Given the description of an element on the screen output the (x, y) to click on. 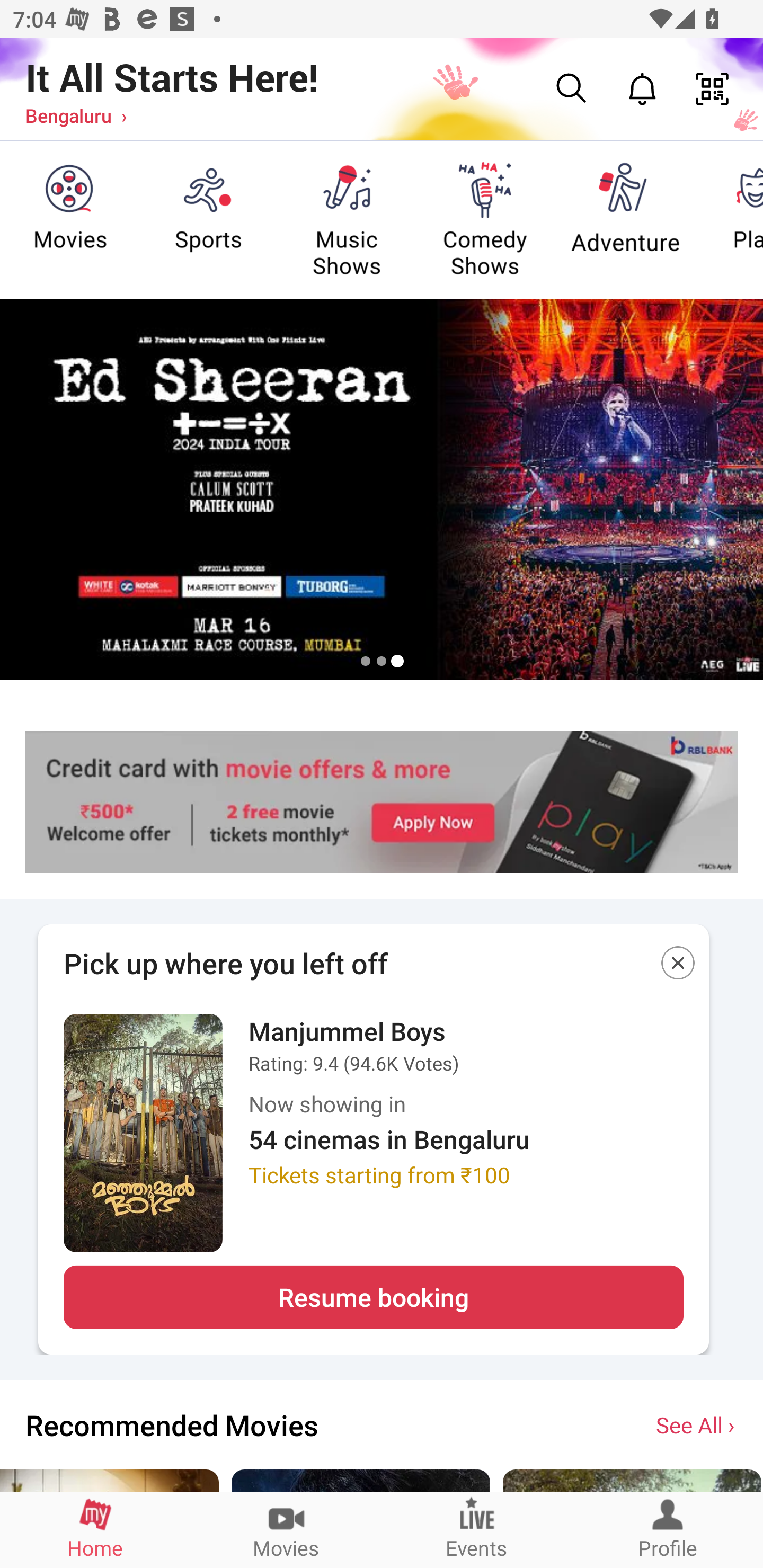
Bengaluru  › (76, 114)
  (678, 966)
Resume booking (373, 1297)
See All › (696, 1424)
Home (95, 1529)
Movies (285, 1529)
Events (476, 1529)
Profile (667, 1529)
